Given the description of an element on the screen output the (x, y) to click on. 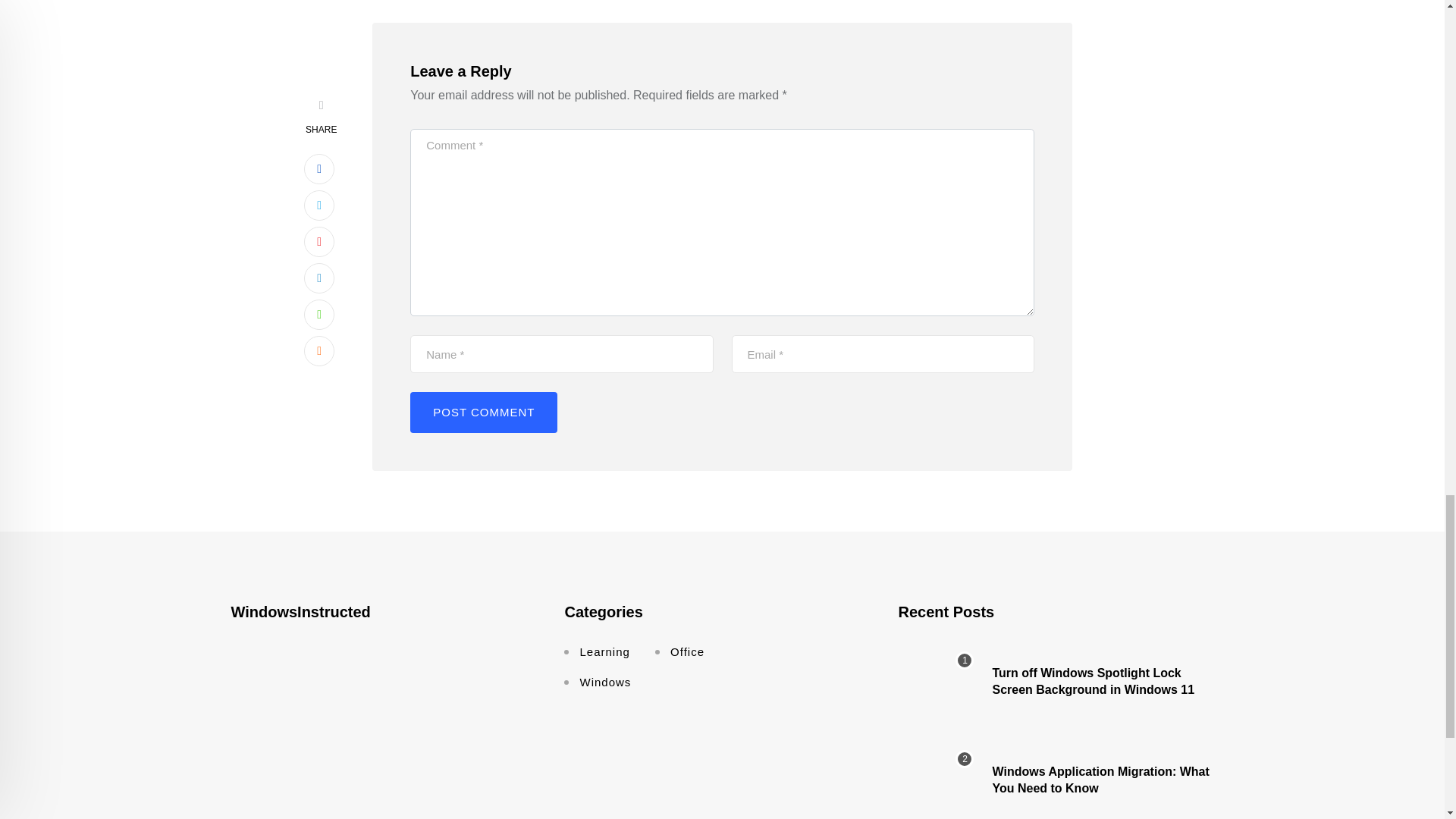
Windows Application Migration: What You Need to Know (936, 780)
Post Comment (483, 412)
